Given the description of an element on the screen output the (x, y) to click on. 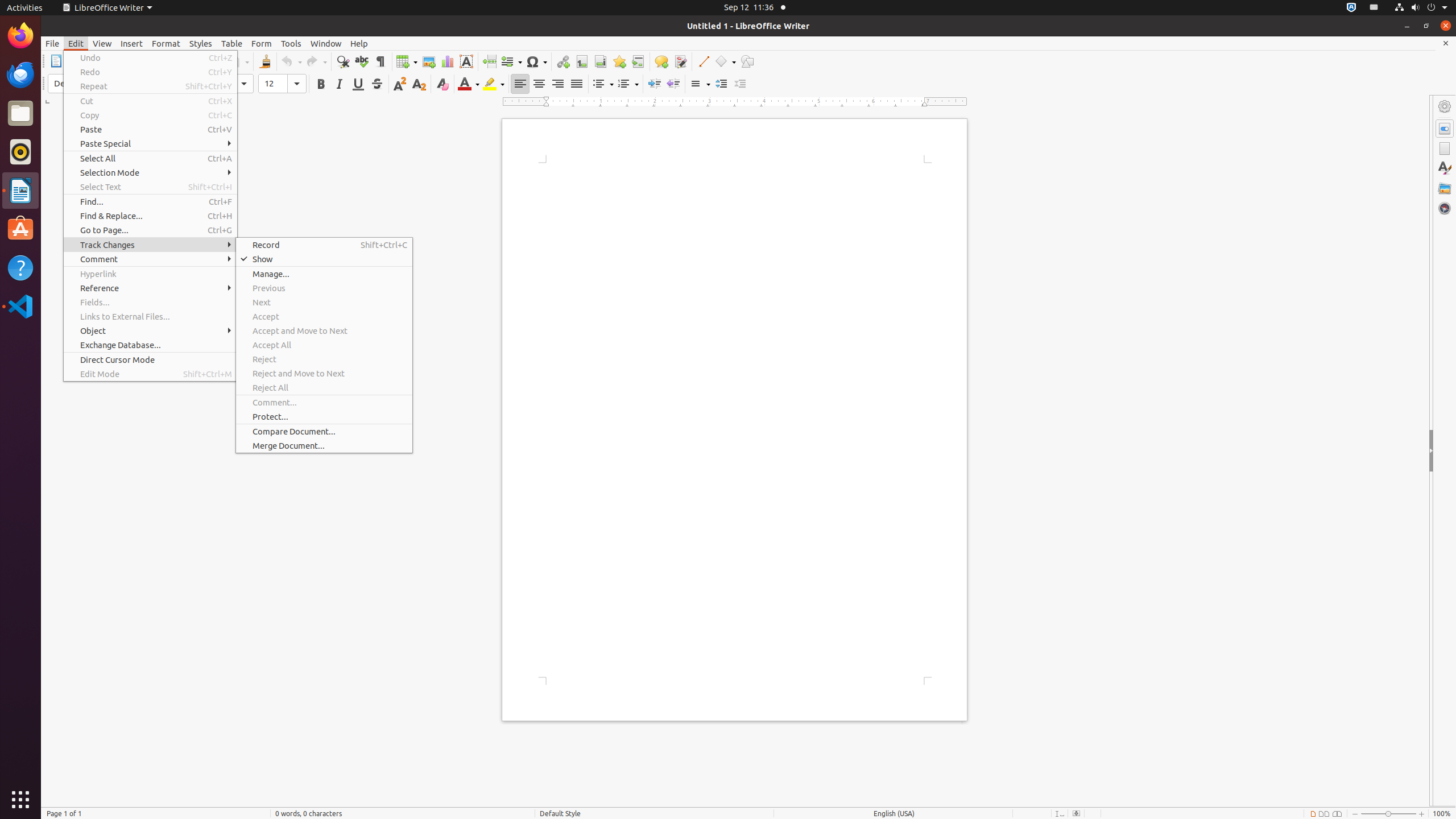
Undo Element type: push-button (290, 61)
Edit Mode Element type: menu-item (150, 373)
Window Element type: menu (325, 43)
Endnote Element type: push-button (599, 61)
LibreOffice Writer Element type: menu (106, 7)
